Given the description of an element on the screen output the (x, y) to click on. 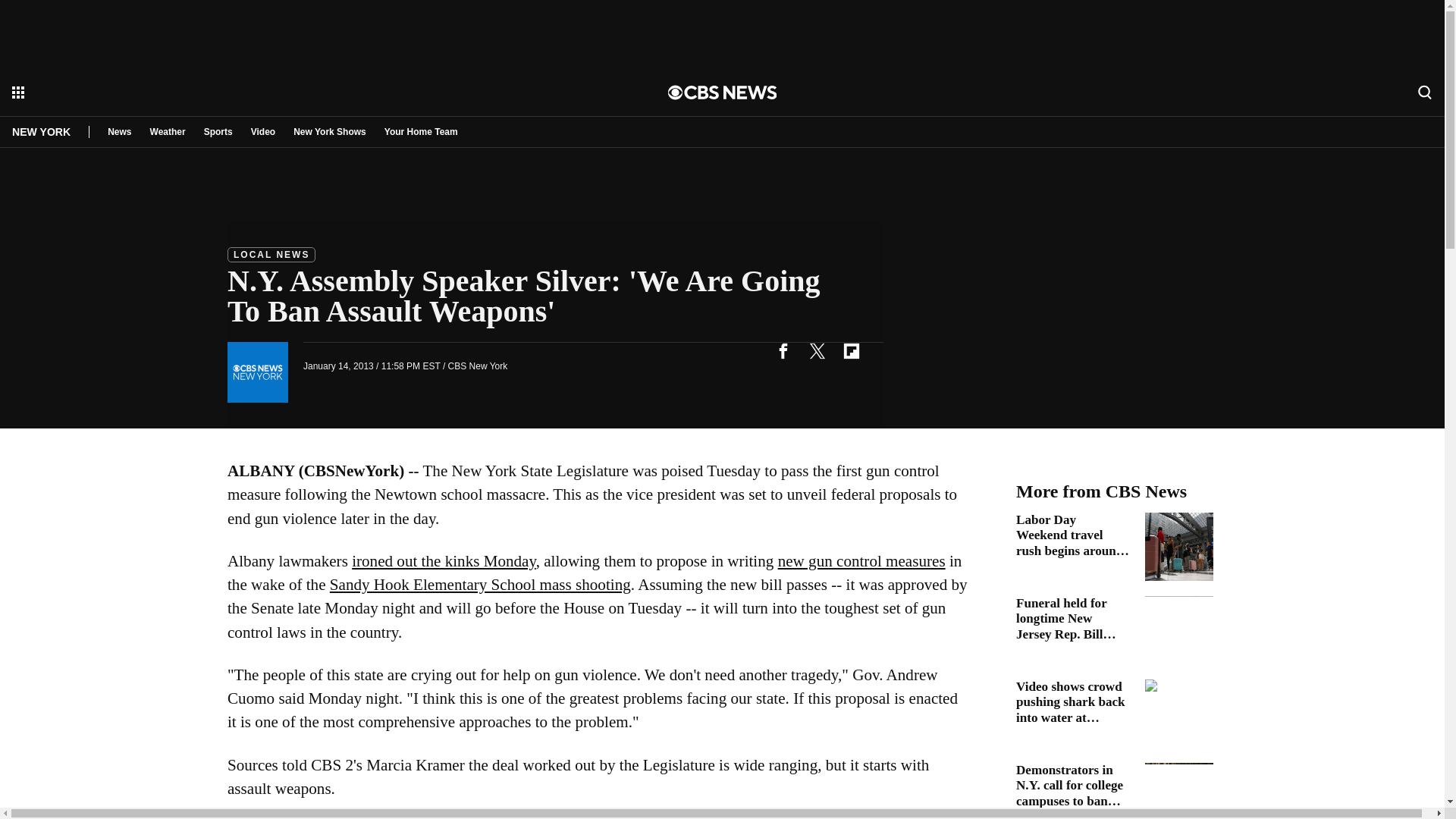
flipboard (850, 350)
facebook (782, 350)
twitter (816, 350)
